Given the description of an element on the screen output the (x, y) to click on. 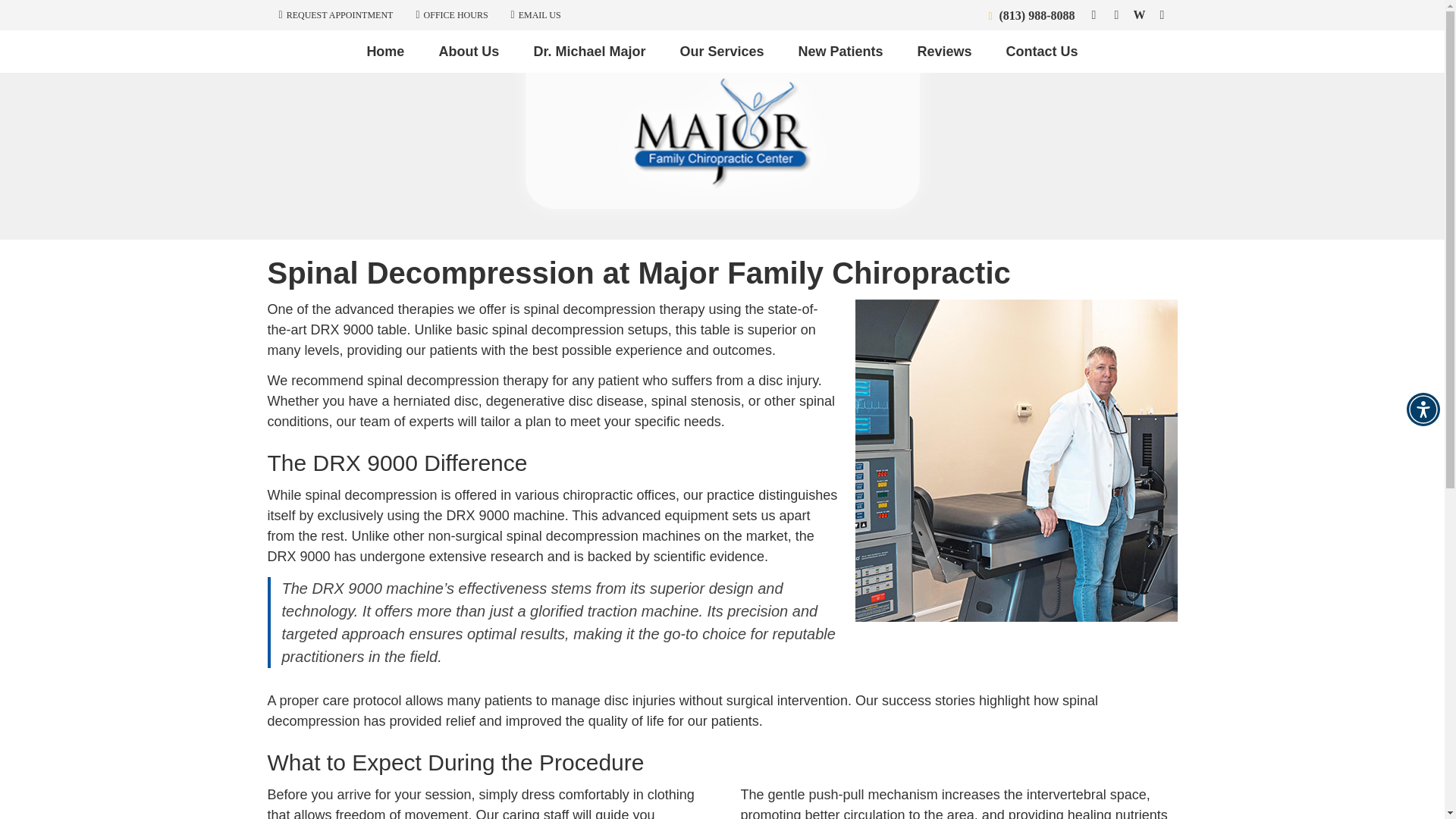
Contact Us (1042, 51)
OFFICE HOURS (451, 14)
Major Family Chiropractic (721, 190)
Home (385, 51)
Reviews (945, 51)
Dr. Michael Major (589, 51)
Welcome to Major Family Chiropractic (721, 190)
REQUEST APPOINTMENT (335, 14)
New Patients (841, 51)
Contact (536, 14)
Instagram Social Button (1161, 14)
Wellness Social Button (1138, 14)
EMAIL US (536, 14)
Accessibility Menu (1422, 409)
Our Services (721, 51)
